Given the description of an element on the screen output the (x, y) to click on. 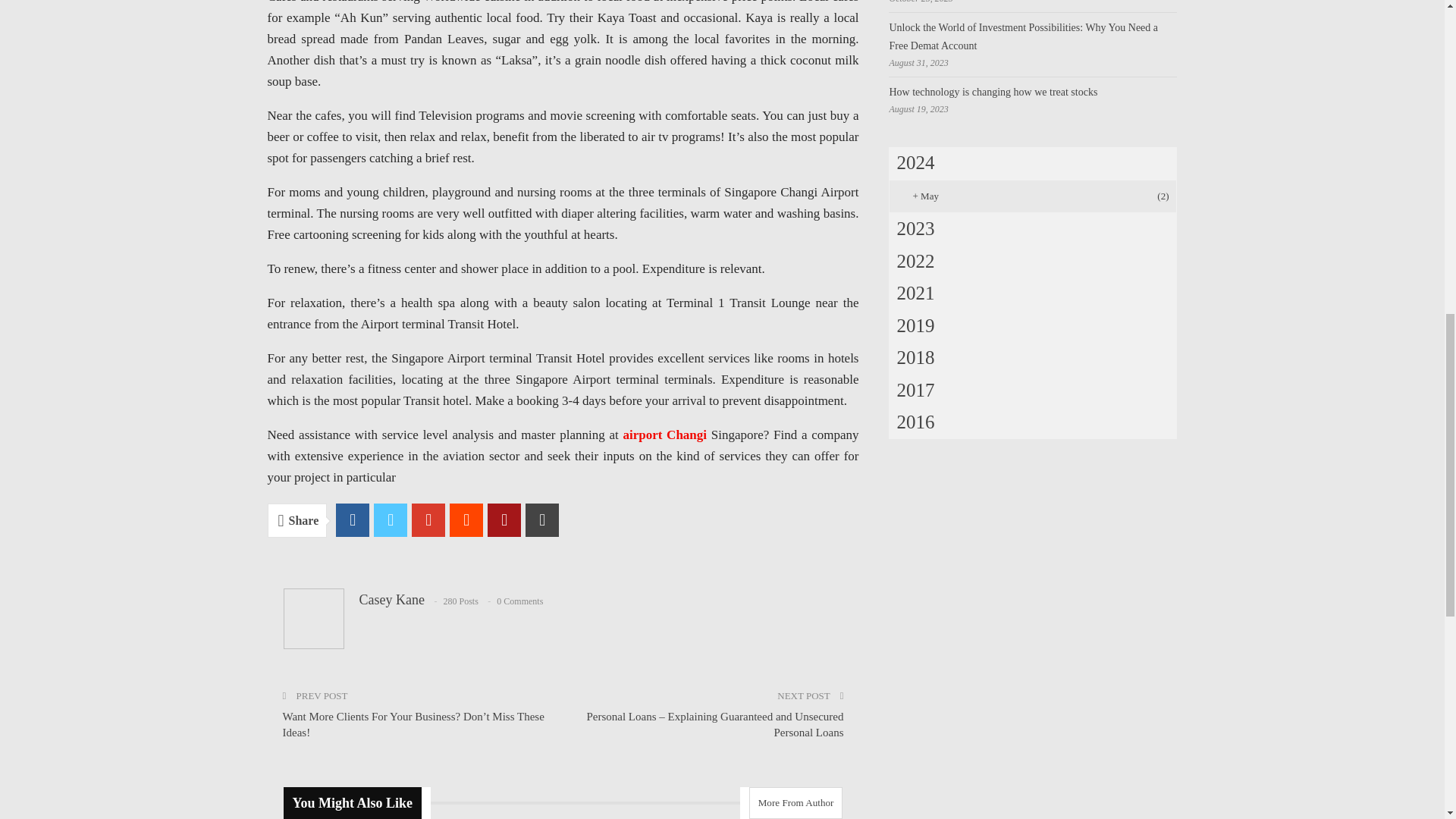
airport Changi (664, 434)
